Given the description of an element on the screen output the (x, y) to click on. 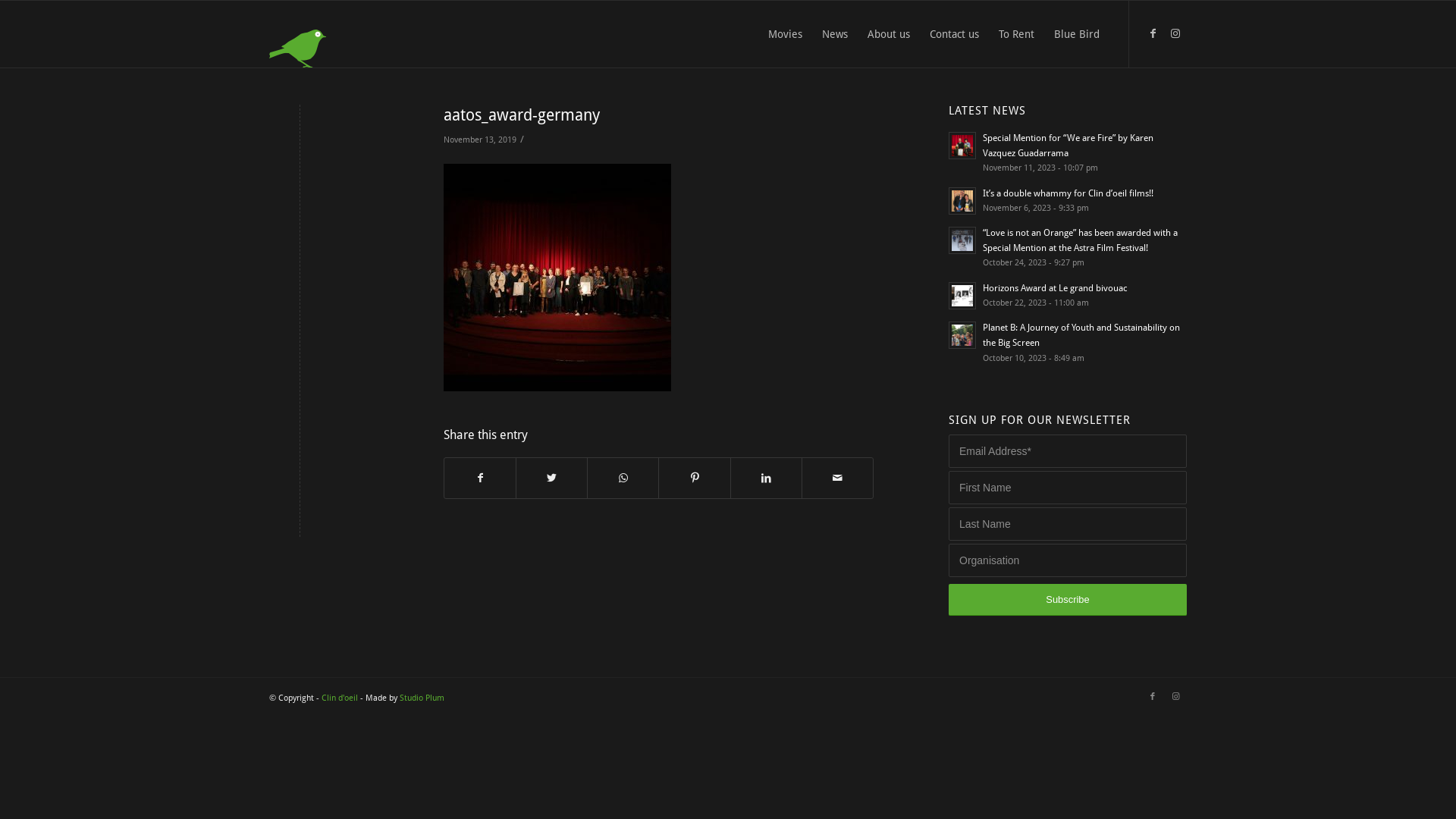
Subscribe Element type: text (1067, 599)
Contact us Element type: text (953, 33)
Movies Element type: text (785, 33)
Instagram Element type: hover (1175, 696)
Clin d'oeil Element type: text (339, 697)
Facebook Element type: hover (1152, 32)
Studio Plum Element type: text (421, 697)
Facebook Element type: hover (1152, 696)
News Element type: text (834, 33)
aatos_award-germany Element type: text (521, 114)
Blue Bird Element type: text (1076, 33)
Instagram Element type: hover (1175, 32)
To Rent Element type: text (1016, 33)
About us Element type: text (888, 33)
